Given the description of an element on the screen output the (x, y) to click on. 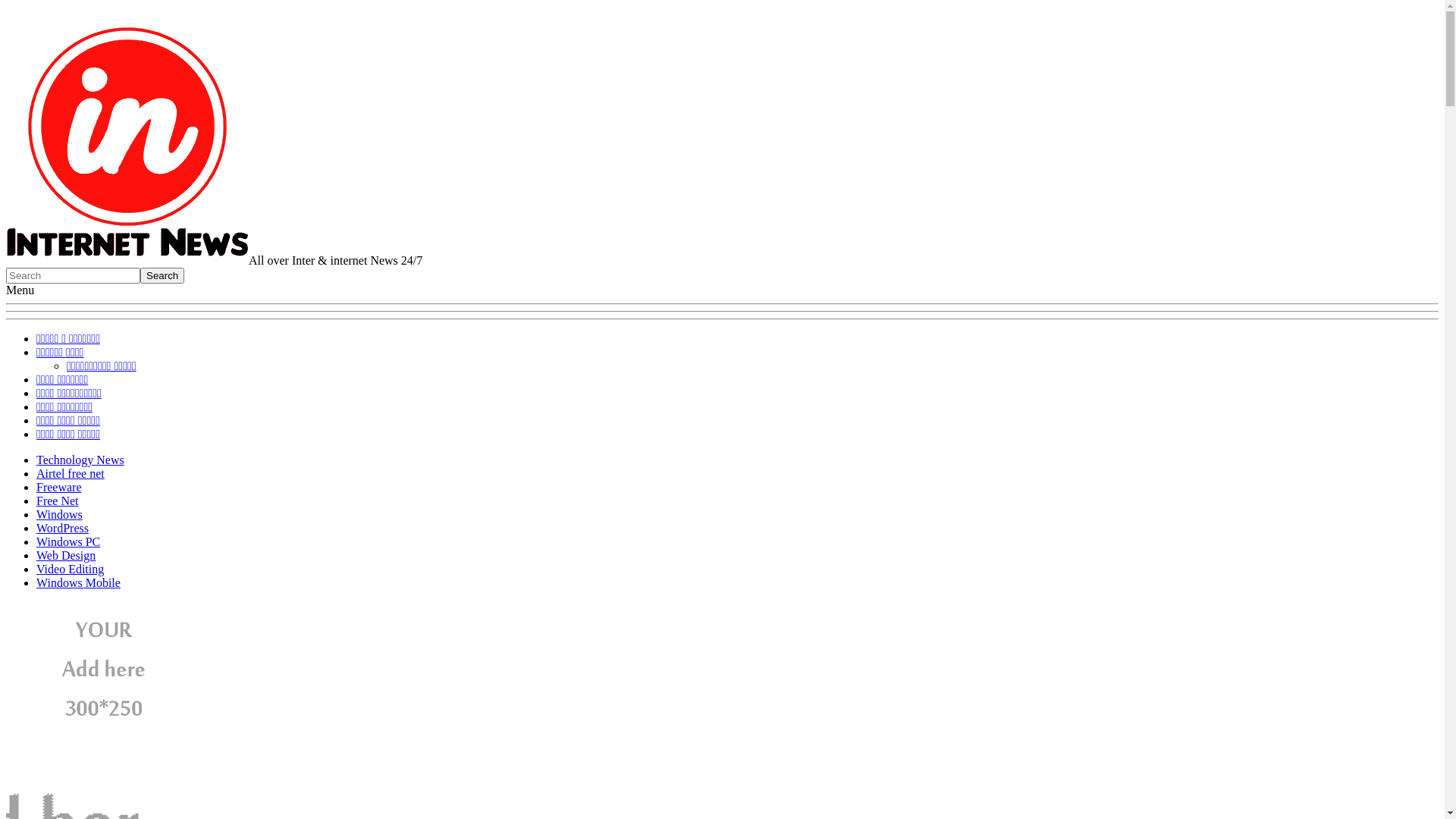
WordPress Element type: text (62, 527)
Search Element type: hover (73, 275)
Windows Element type: text (59, 514)
Technology News Element type: text (80, 459)
Free Net Element type: text (57, 500)
Video Editing Element type: text (69, 568)
Airtel free net Element type: text (70, 473)
Web Design Element type: text (65, 555)
Search Element type: text (162, 275)
Freeware Element type: text (58, 486)
Internet News | in.com.BD Element type: hover (127, 260)
Windows Mobile Element type: text (78, 582)
Windows PC Element type: text (68, 541)
